Given the description of an element on the screen output the (x, y) to click on. 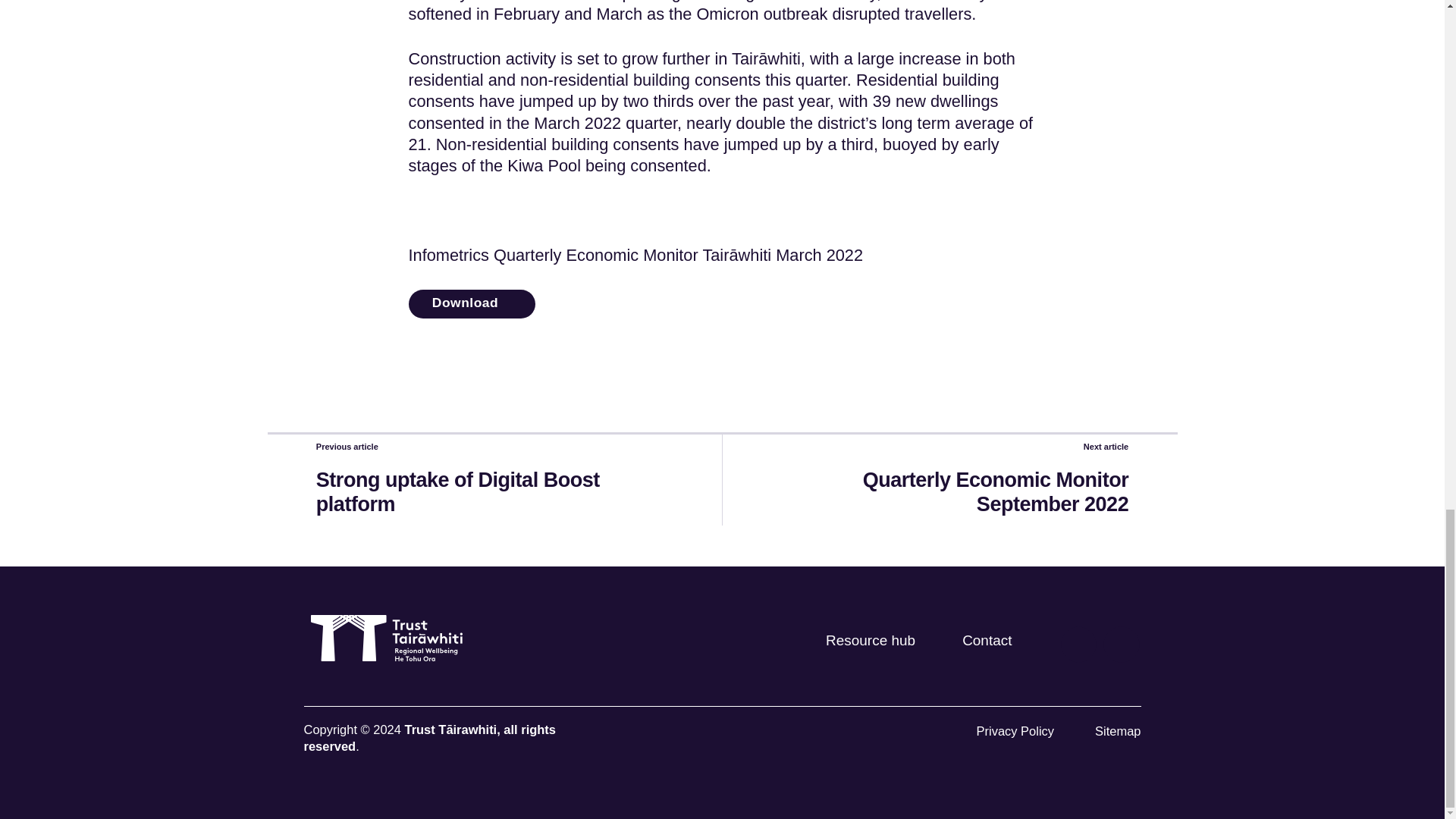
Strong uptake of Digital Boost platform (493, 496)
Previous article (493, 450)
Download (470, 303)
Next article (949, 450)
Connect on Facebook (1078, 643)
Connect on Facebook (1120, 643)
